Given the description of an element on the screen output the (x, y) to click on. 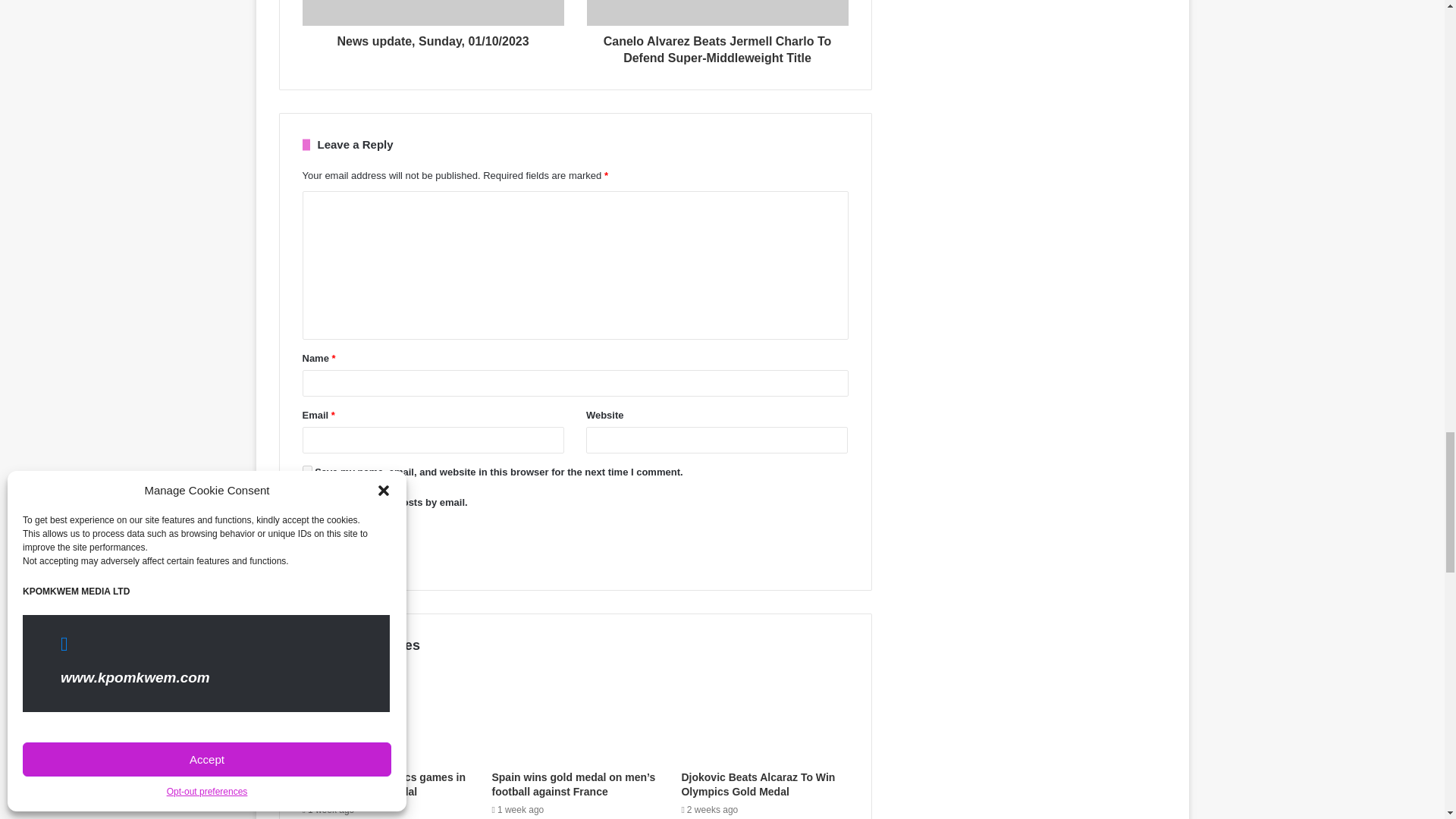
Post Comment (345, 546)
yes (306, 470)
subscribe (306, 501)
